Given the description of an element on the screen output the (x, y) to click on. 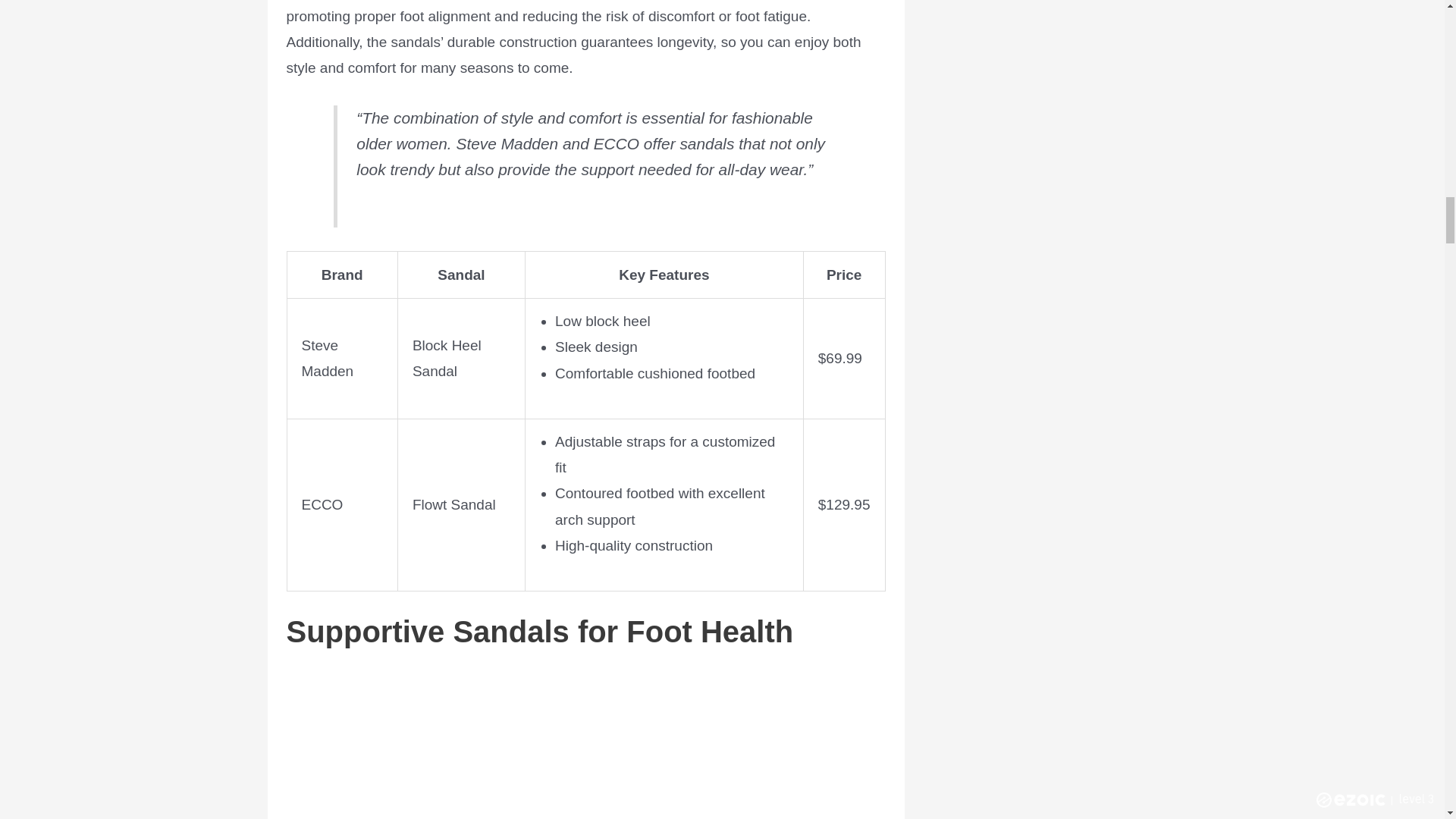
supportive sandals for foot health (585, 743)
